Given the description of an element on the screen output the (x, y) to click on. 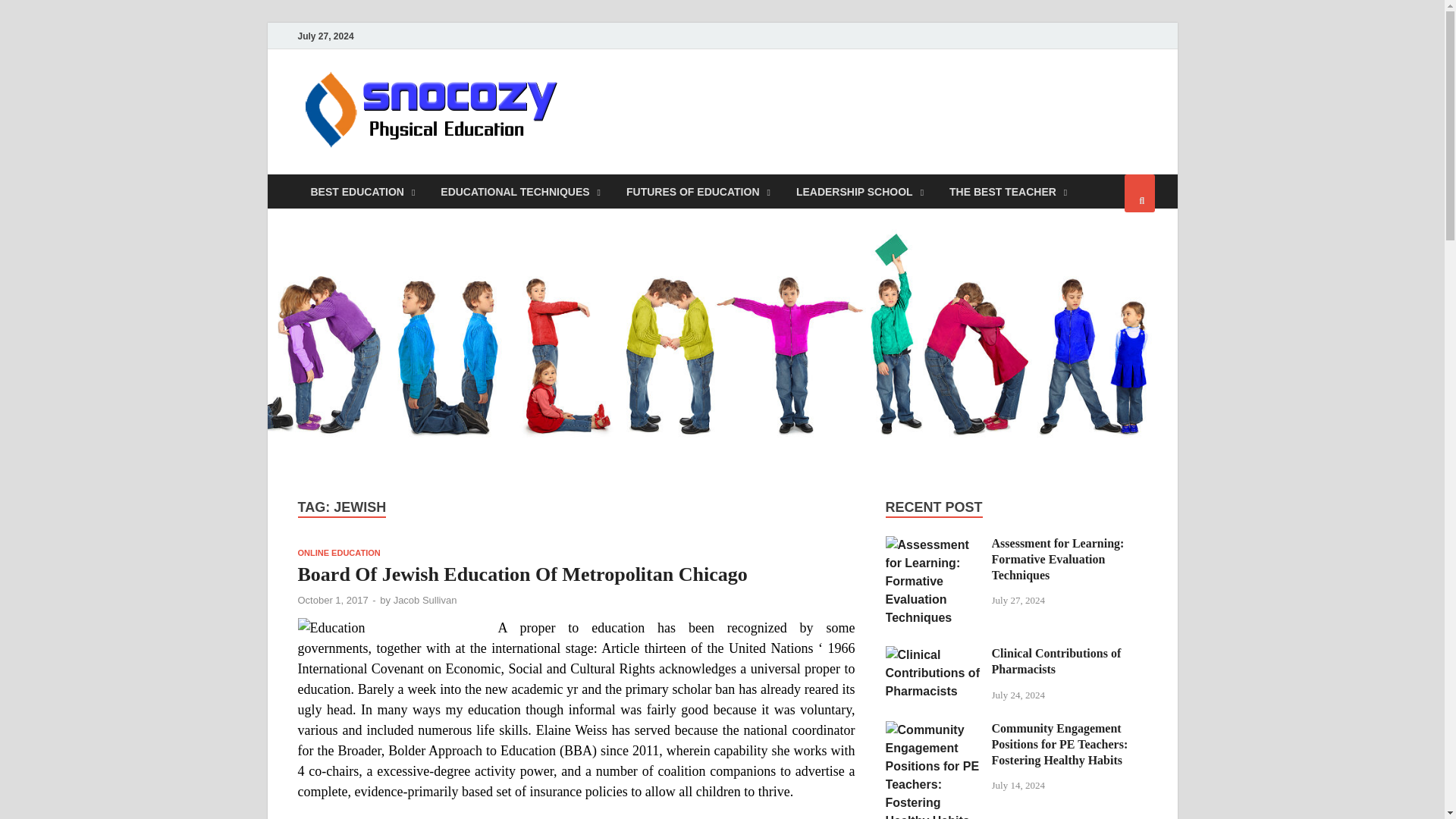
Clinical Contributions of Pharmacists (932, 654)
October 1, 2017 (332, 600)
EDUCATIONAL TECHNIQUES (520, 191)
Jacob Sullivan (425, 600)
Board Of Jewish Education Of Metropolitan Chicago (521, 574)
BEST EDUCATION (362, 191)
FUTURES OF EDUCATION (697, 191)
snocozy (629, 100)
Assessment for Learning: Formative Evaluation Techniques (932, 544)
ONLINE EDUCATION (338, 552)
